Given the description of an element on the screen output the (x, y) to click on. 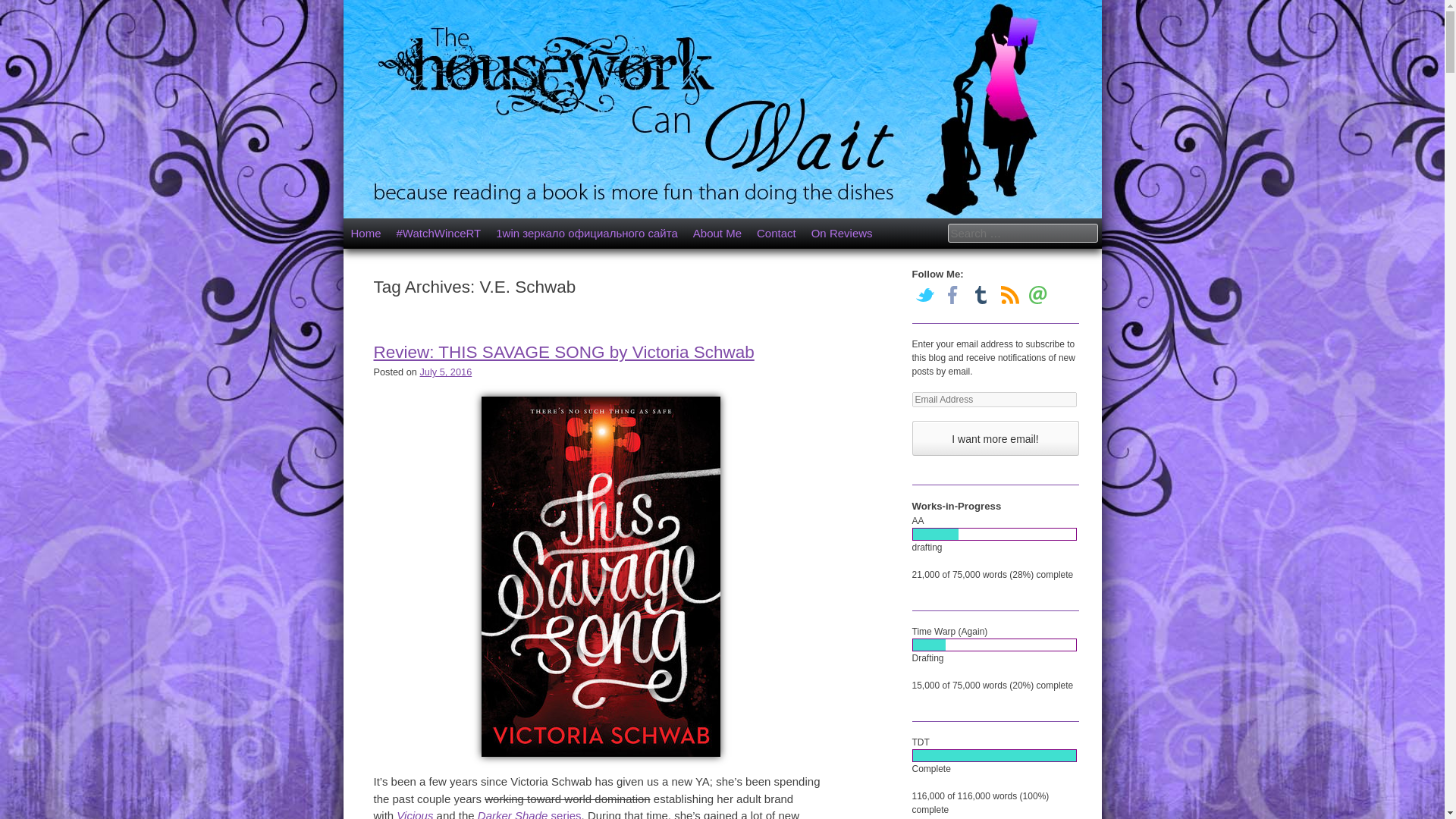
Darker Shade (512, 814)
Home (365, 233)
9:30 am (445, 371)
Skip to content (387, 233)
Permalink to Review: THIS SAVAGE SONG by Victoria Schwab (563, 352)
Vicious (414, 814)
July 5, 2016 (445, 371)
Skip to content (387, 233)
Review: THIS SAVAGE SONG by Victoria Schwab (563, 352)
Search (33, 17)
series (565, 814)
About Me (717, 233)
